Given the description of an element on the screen output the (x, y) to click on. 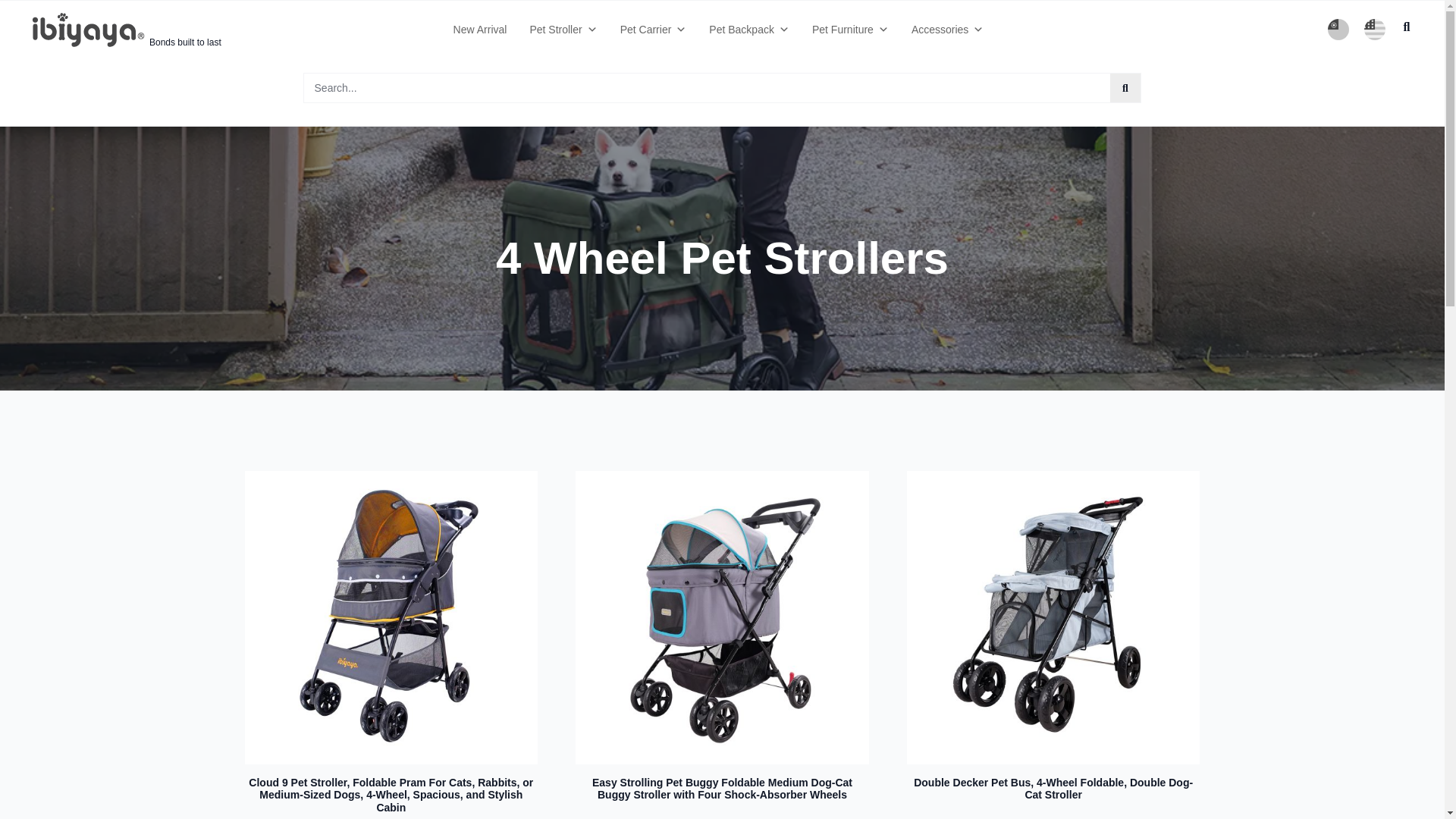
Pet Stroller (653, 28)
Bonds built to last (185, 41)
Pet Carrier (653, 28)
New Arrival (480, 28)
Pet Stroller (562, 28)
